Given the description of an element on the screen output the (x, y) to click on. 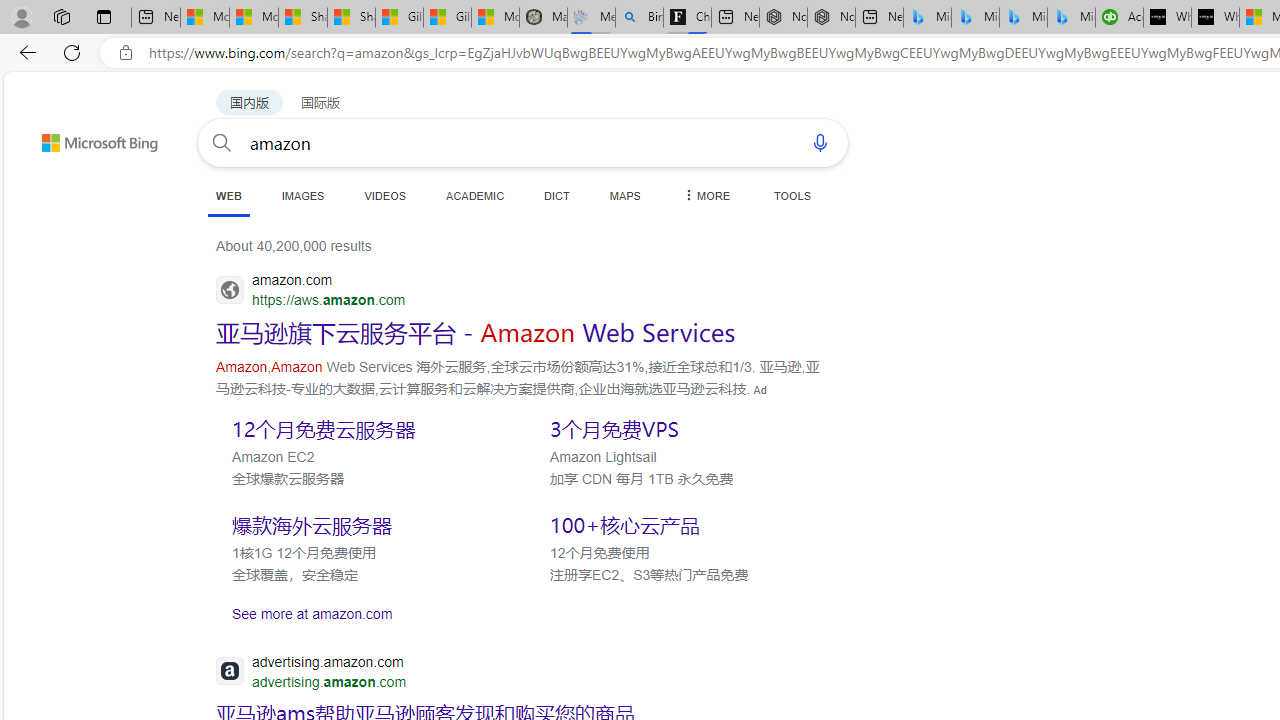
Back to Bing search (87, 138)
TOOLS (792, 195)
Accounting Software for Accountants, CPAs and Bookkeepers (1119, 17)
WEB (228, 195)
SERP,5547 (476, 331)
